Given the description of an element on the screen output the (x, y) to click on. 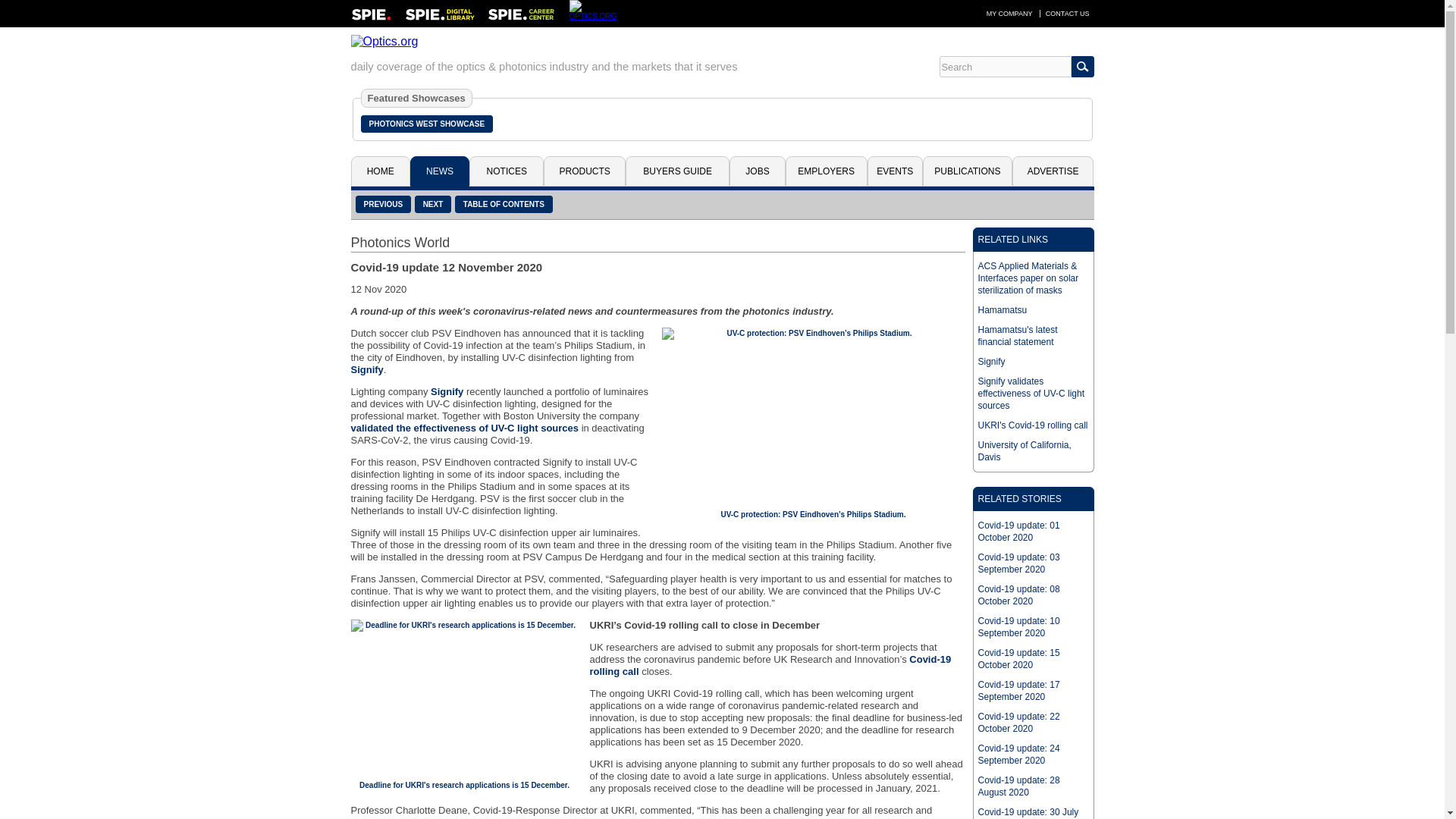
Search (1004, 66)
Deadline for UKRI's research applications is 15 December. (464, 695)
PHOTONICS WEST SHOWCASE (427, 123)
NOTICES (505, 171)
Deadline for UKRI's research applications is 15 December. (464, 785)
PRODUCTS (584, 171)
NEWS (439, 171)
JOBS (757, 171)
BUYERS GUIDE (677, 171)
MY COMPANY (1008, 13)
CONTACT US (1067, 13)
HOME (379, 171)
